Given the description of an element on the screen output the (x, y) to click on. 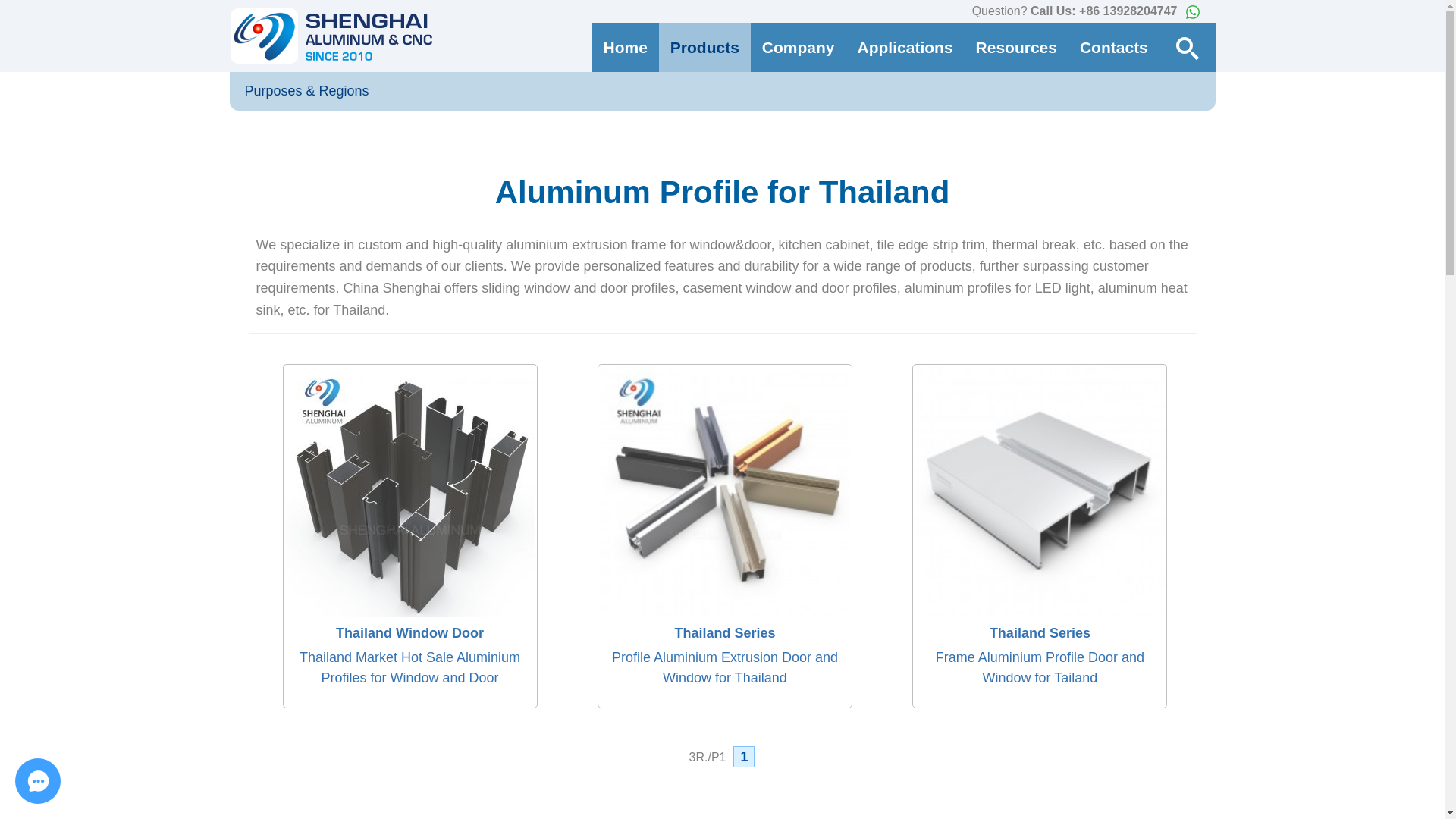
Applications (904, 47)
Company (798, 47)
Home (624, 47)
Products (705, 47)
Contacts (1113, 47)
Resources (1015, 47)
